Given the description of an element on the screen output the (x, y) to click on. 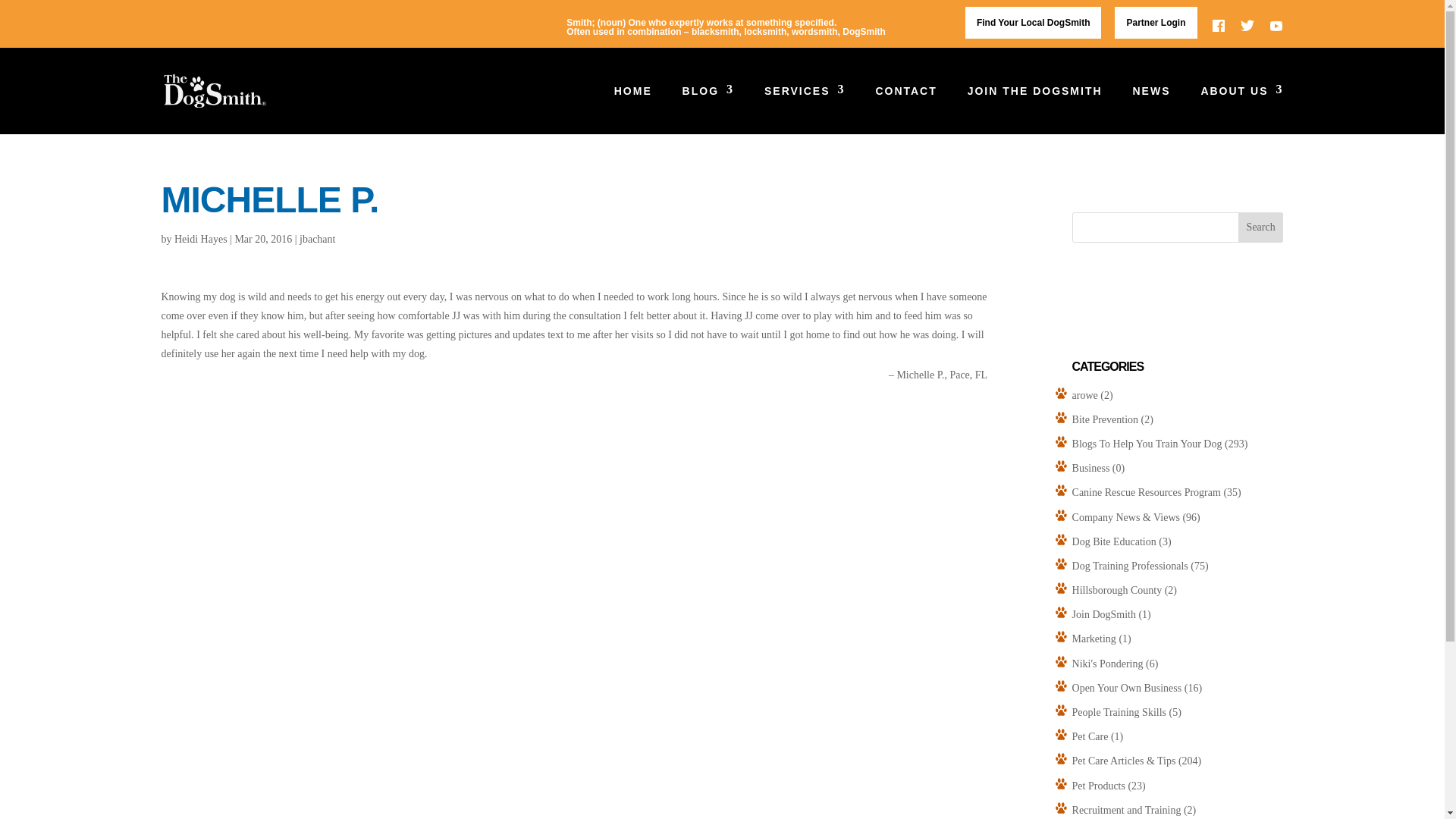
CONTACT (905, 109)
Posts by Heidi Hayes (200, 238)
Partner Login (1155, 22)
BLOG (707, 109)
JOIN THE DOGSMITH (1035, 109)
Heidi Hayes (200, 238)
Search (1261, 227)
ABOUT US (1240, 109)
Find Your Local DogSmith (1033, 22)
Search (1261, 227)
